Given the description of an element on the screen output the (x, y) to click on. 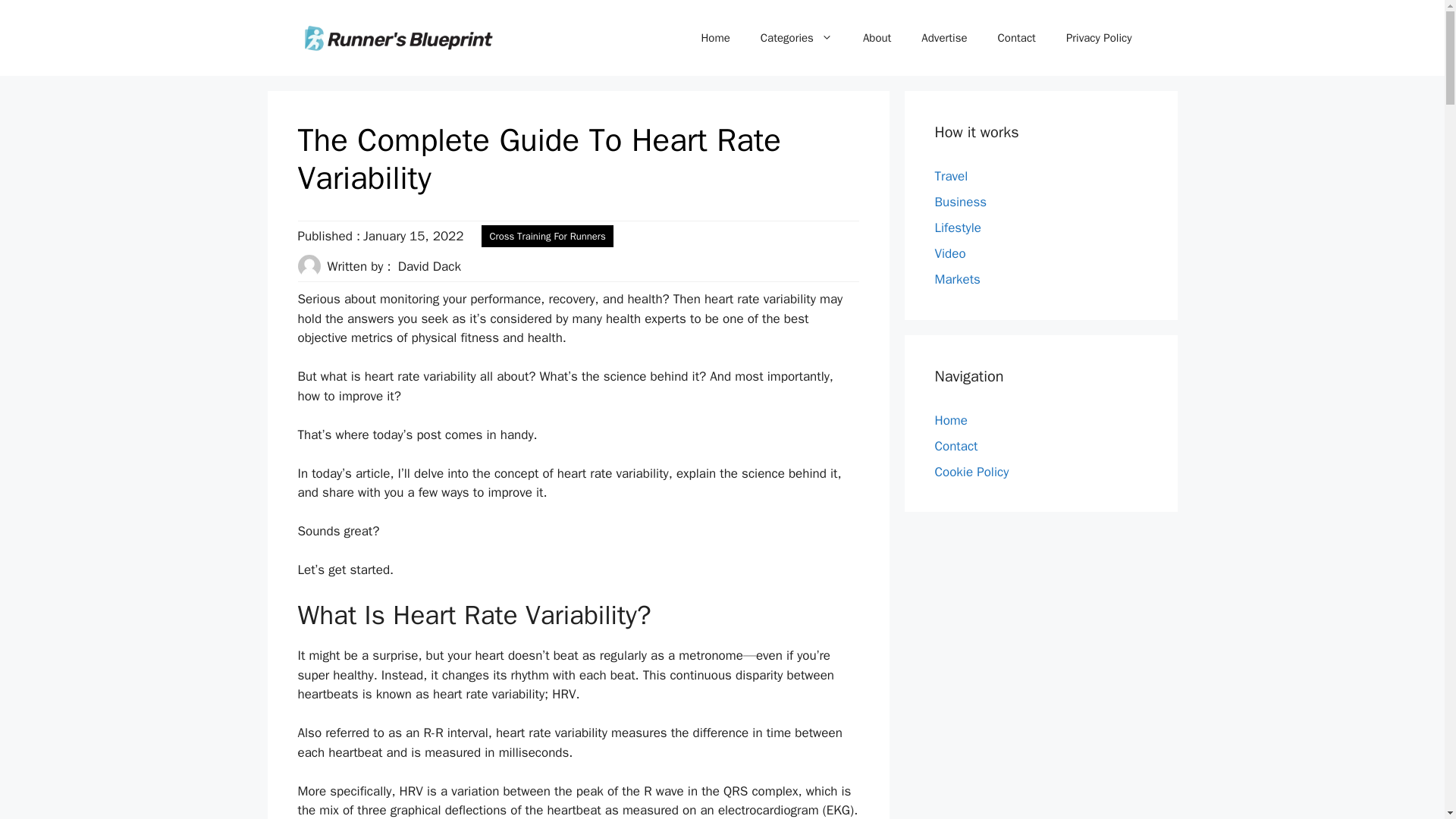
About (876, 37)
Home (714, 37)
Lifestyle (956, 227)
Contact (1016, 37)
Advertise (943, 37)
The Complete Guide To Heart Rate Variability (538, 159)
Business (960, 201)
Travel (951, 176)
Categories (796, 37)
Markets (956, 279)
